Given the description of an element on the screen output the (x, y) to click on. 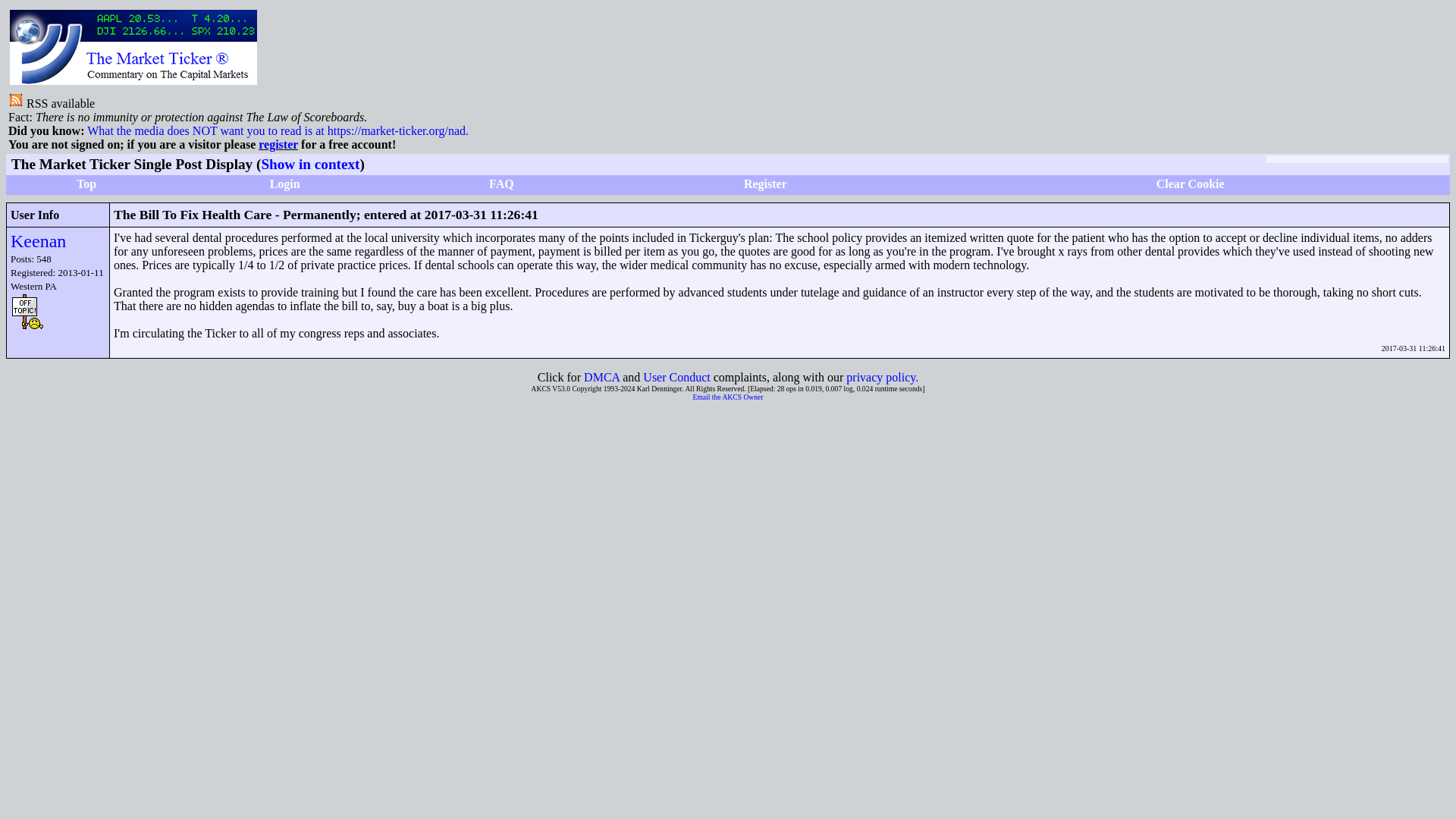
privacy policy. (881, 377)
Top (86, 183)
User Conduct (676, 377)
Register (765, 183)
DMCA (601, 377)
register (278, 144)
Login (284, 183)
Show in context (309, 163)
Keenan (37, 240)
Clear Cookie (1190, 183)
FAQ (501, 183)
